Given the description of an element on the screen output the (x, y) to click on. 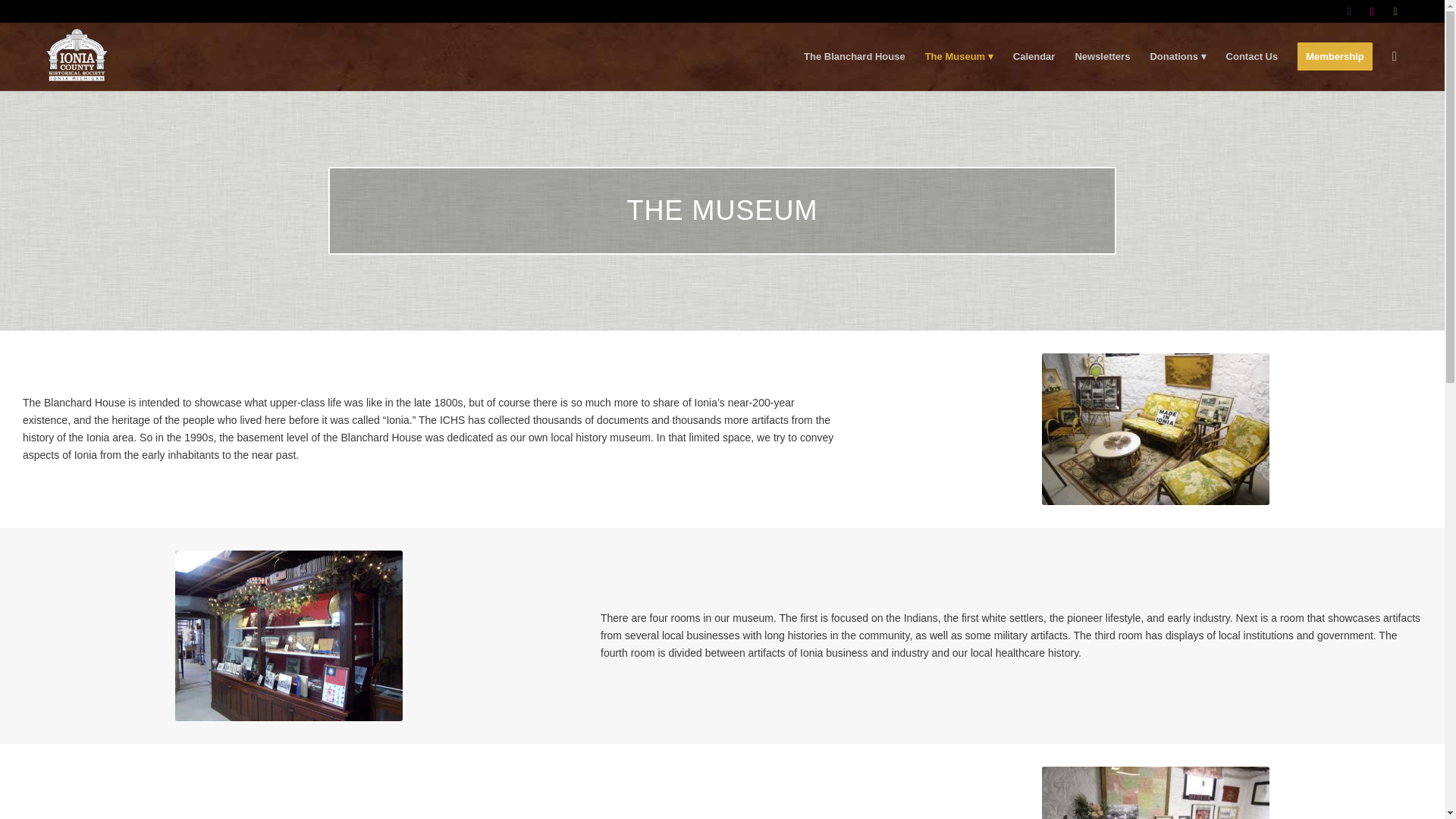
Mail (1395, 11)
Flickr (1372, 11)
Newsletters (1102, 56)
Membership (1334, 56)
Calendar (1034, 56)
Contact Us (1251, 56)
Facebook (1348, 11)
Donations (1177, 56)
The Museum (959, 56)
The Blanchard House (854, 56)
